Given the description of an element on the screen output the (x, y) to click on. 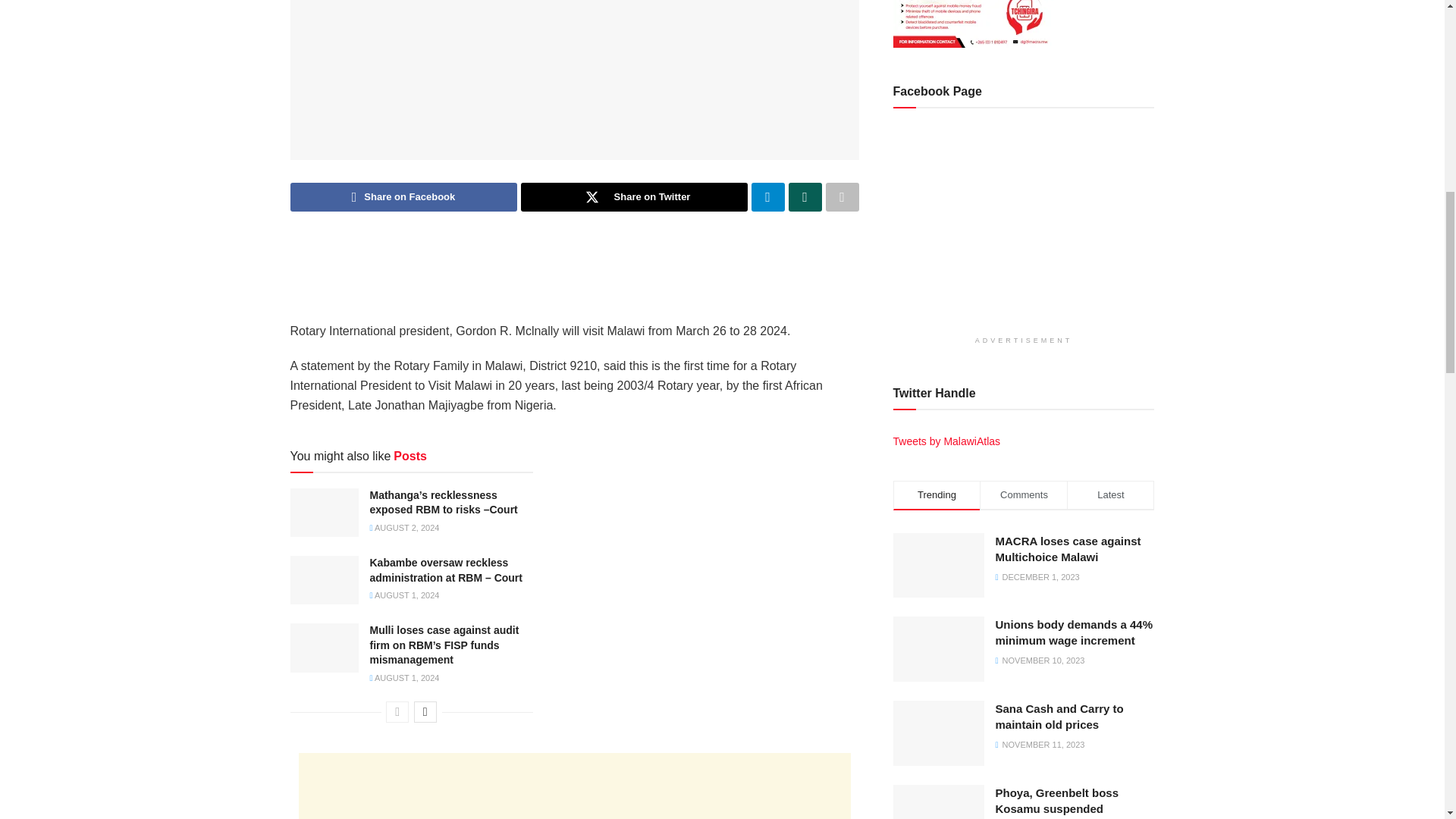
Next (424, 711)
Previous (397, 711)
